Given the description of an element on the screen output the (x, y) to click on. 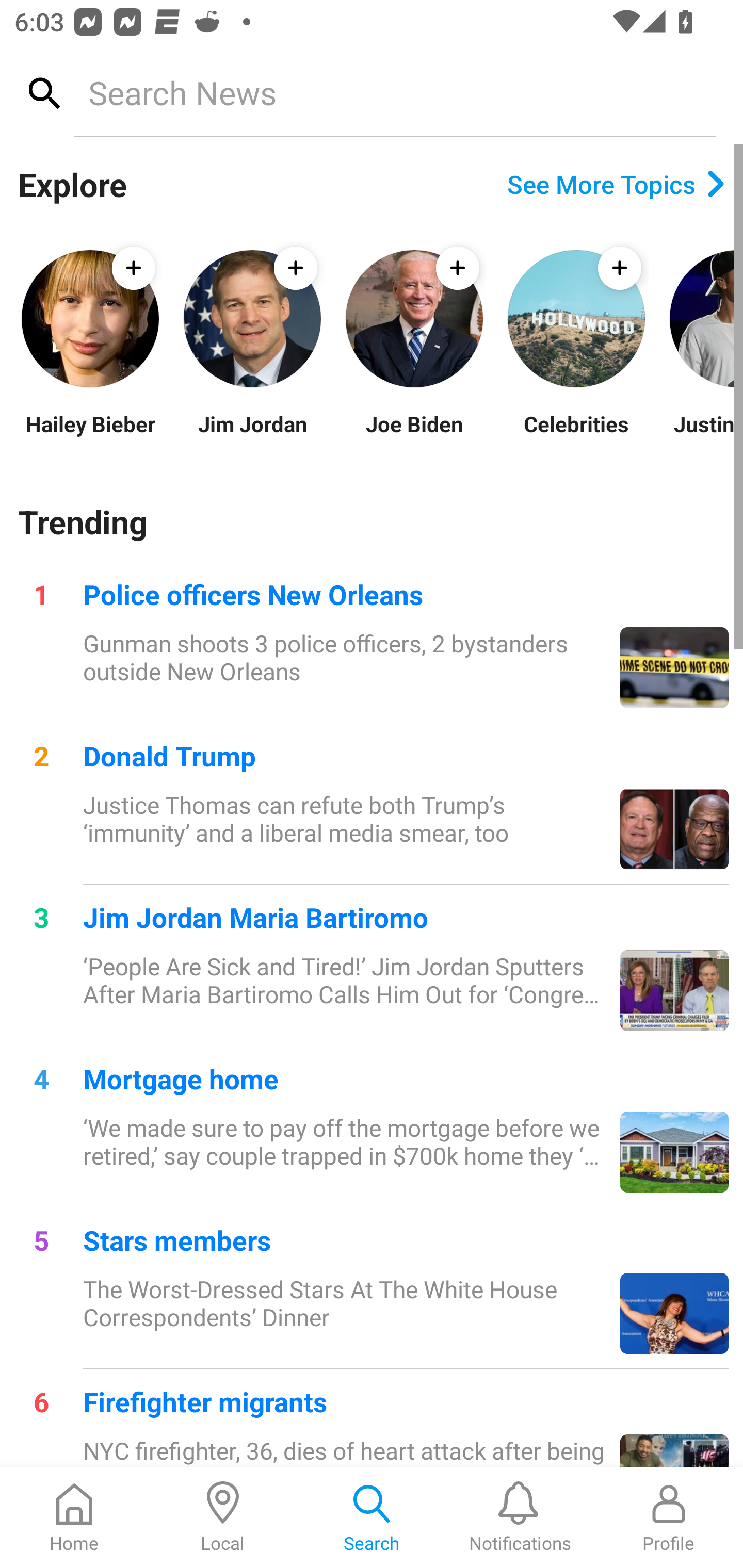
Search News (394, 92)
See More Topics (616, 183)
Hailey Bieber (89, 436)
Jim Jordan (251, 436)
Joe Biden (413, 436)
Celebrities (575, 436)
Home (74, 1517)
Local (222, 1517)
Notifications (519, 1517)
Profile (668, 1517)
